Given the description of an element on the screen output the (x, y) to click on. 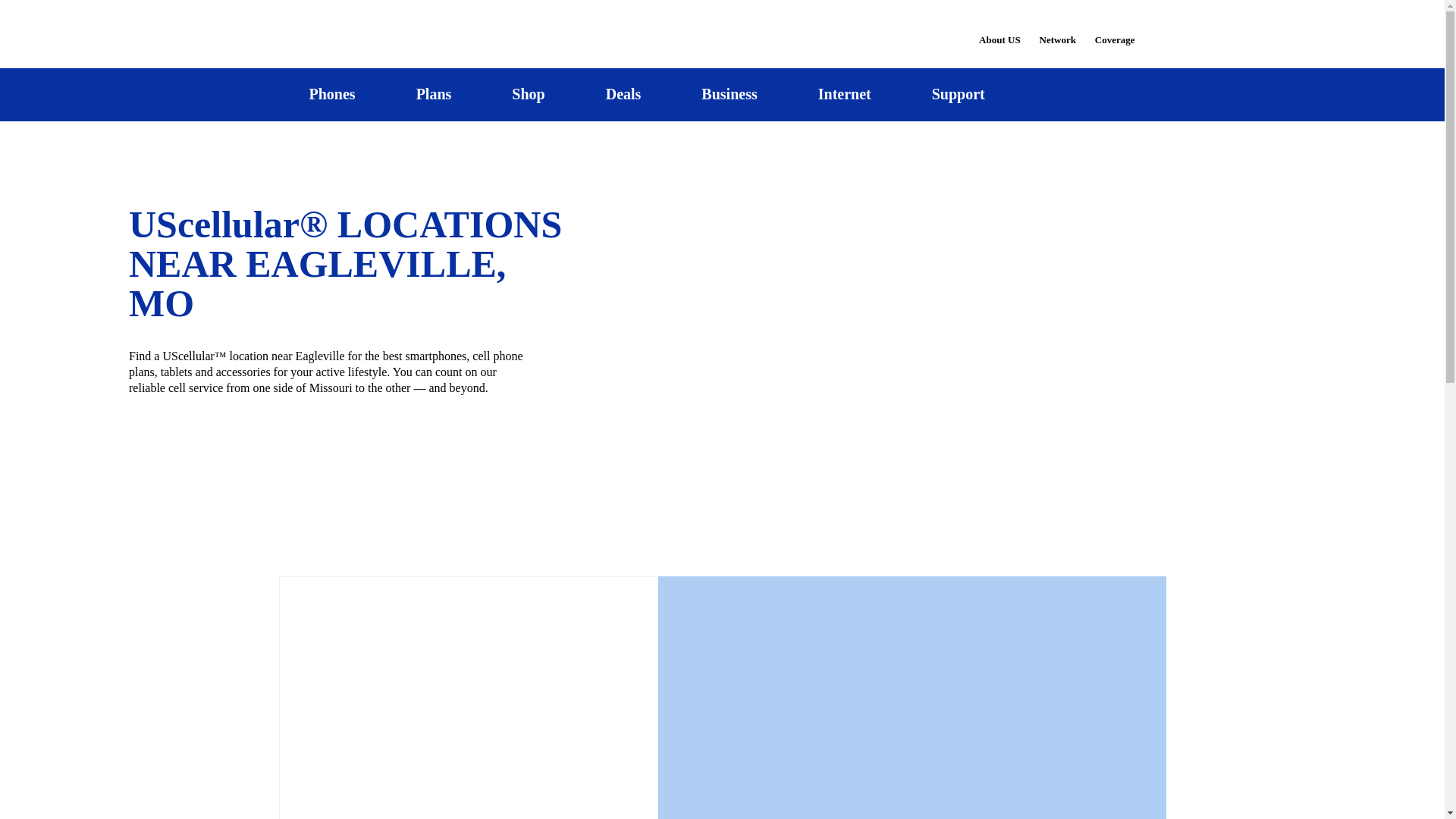
Deals (623, 94)
Internet (844, 94)
Support (957, 94)
Business (729, 94)
Phones (332, 94)
Shop (528, 94)
Coverage (1115, 29)
About US (999, 30)
Plans (433, 94)
Network (1057, 30)
